Given the description of an element on the screen output the (x, y) to click on. 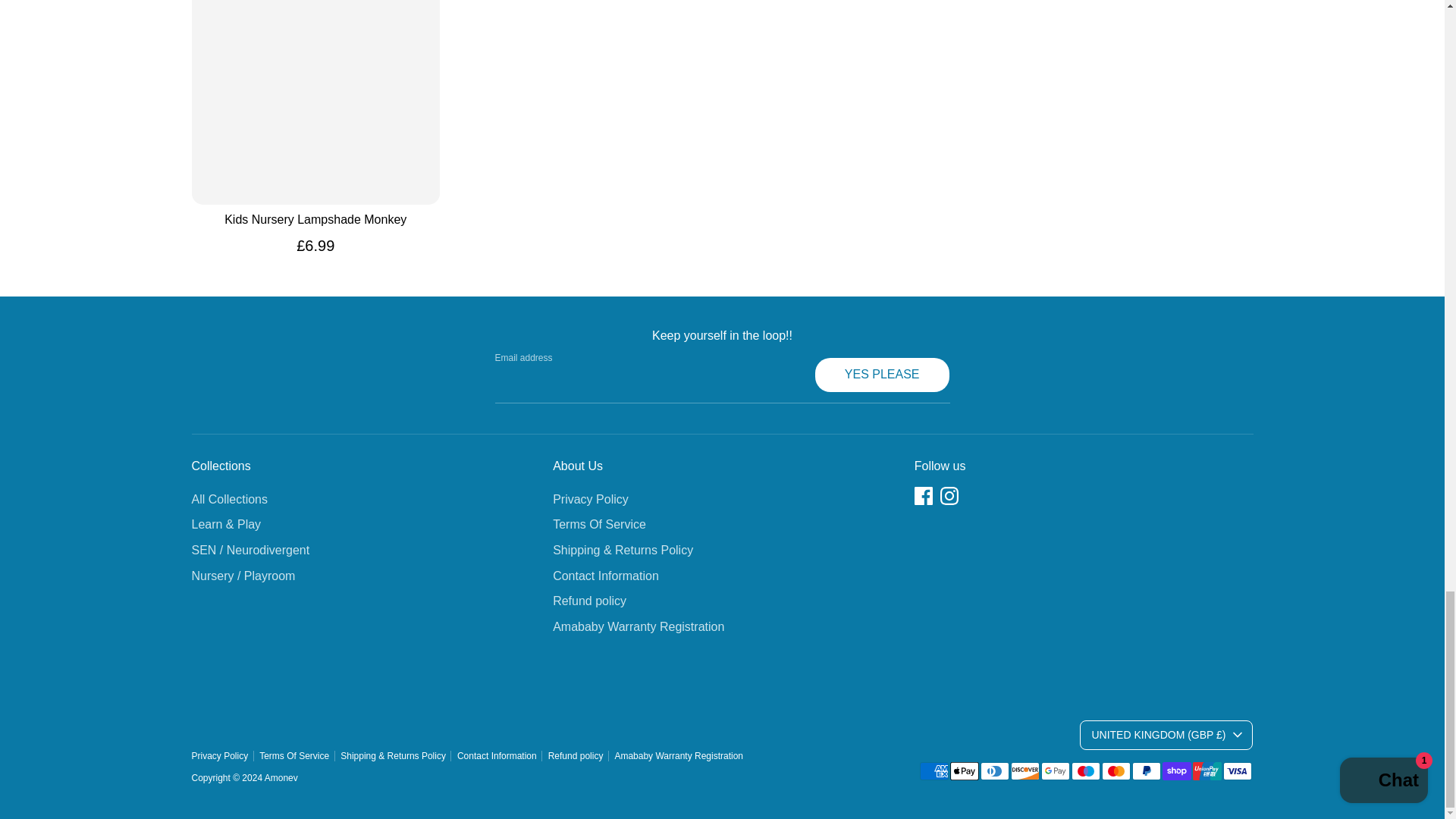
Google Pay (1054, 771)
American Express (932, 771)
Apple Pay (963, 771)
Diners Club (994, 771)
Discover (1024, 771)
